Given the description of an element on the screen output the (x, y) to click on. 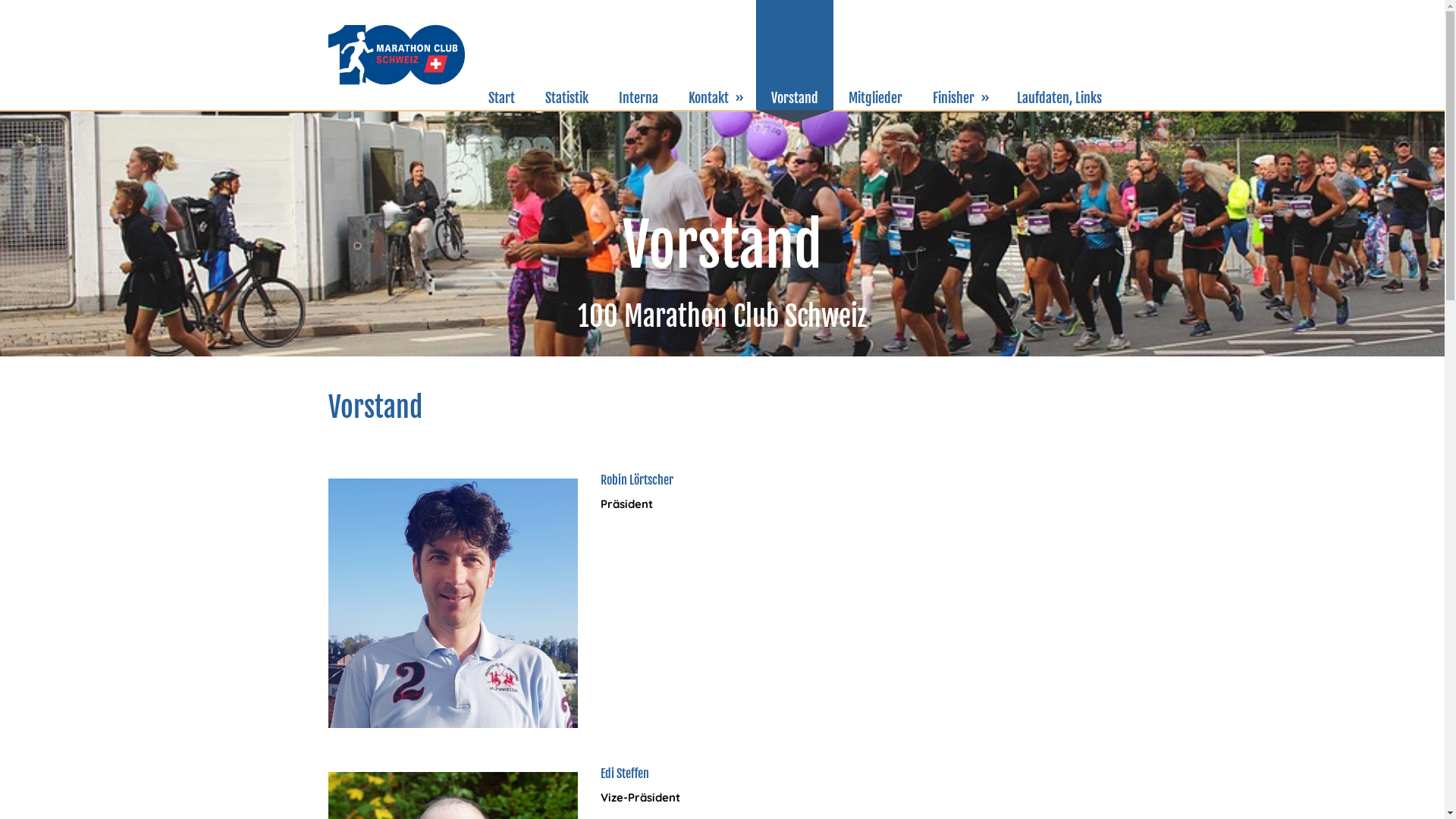
Finisher Element type: text (959, 54)
Interna Element type: text (638, 54)
Statistik Element type: text (565, 54)
Laufdaten, Links Element type: text (1058, 54)
Kontakt Element type: text (714, 54)
Vorstand Element type: text (793, 54)
Start Element type: text (501, 54)
Mitglieder Element type: text (874, 54)
